Given the description of an element on the screen output the (x, y) to click on. 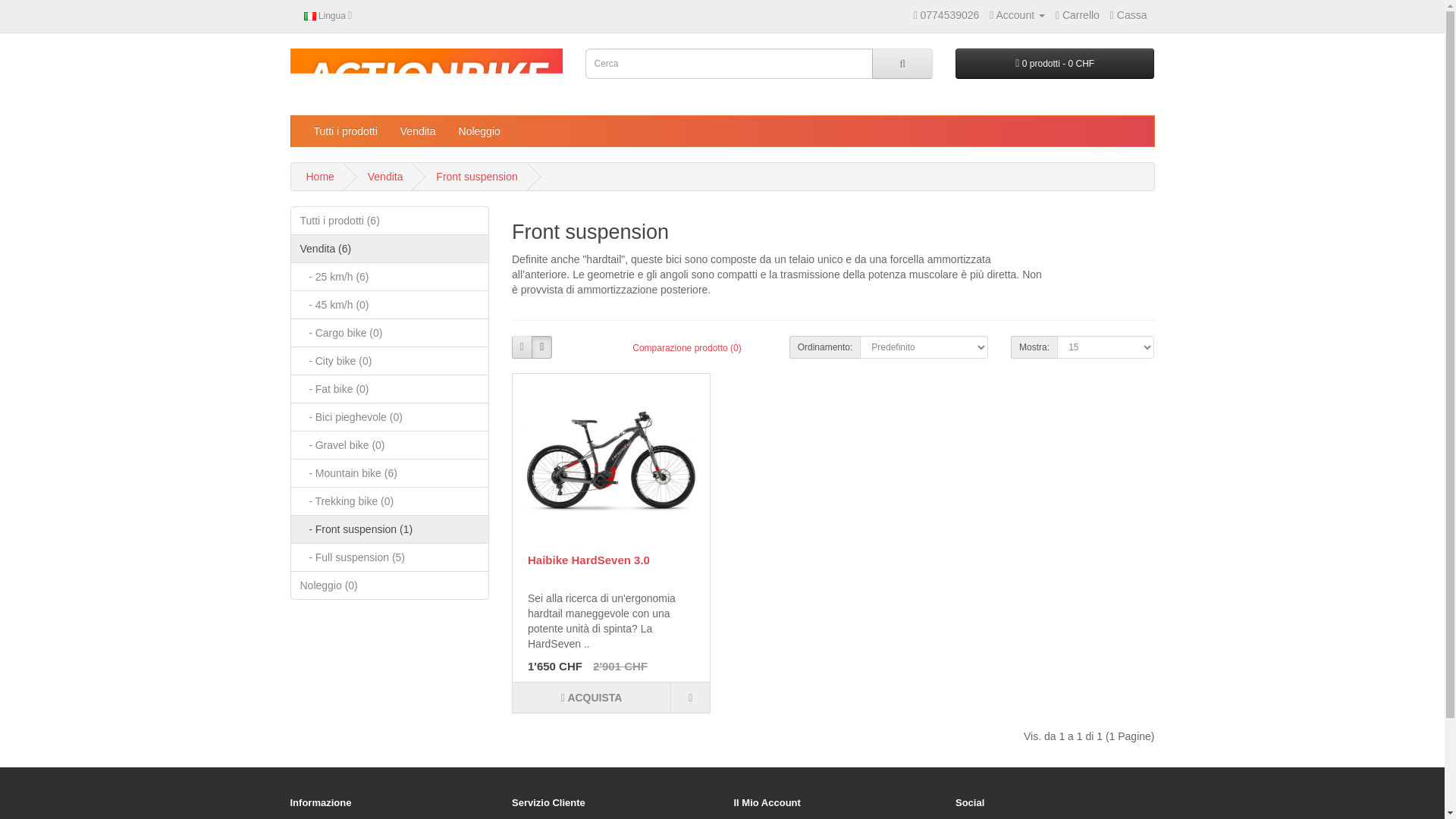
Italiano (308, 16)
Lingua  (328, 15)
0 prodotti - 0 CHF (1054, 63)
Account (1017, 15)
Carrello (1077, 15)
Cassa (1128, 15)
Carrello (1077, 15)
Account (1017, 15)
Haibike HardSeven 3.0 (610, 460)
Noleggio (479, 131)
